Given the description of an element on the screen output the (x, y) to click on. 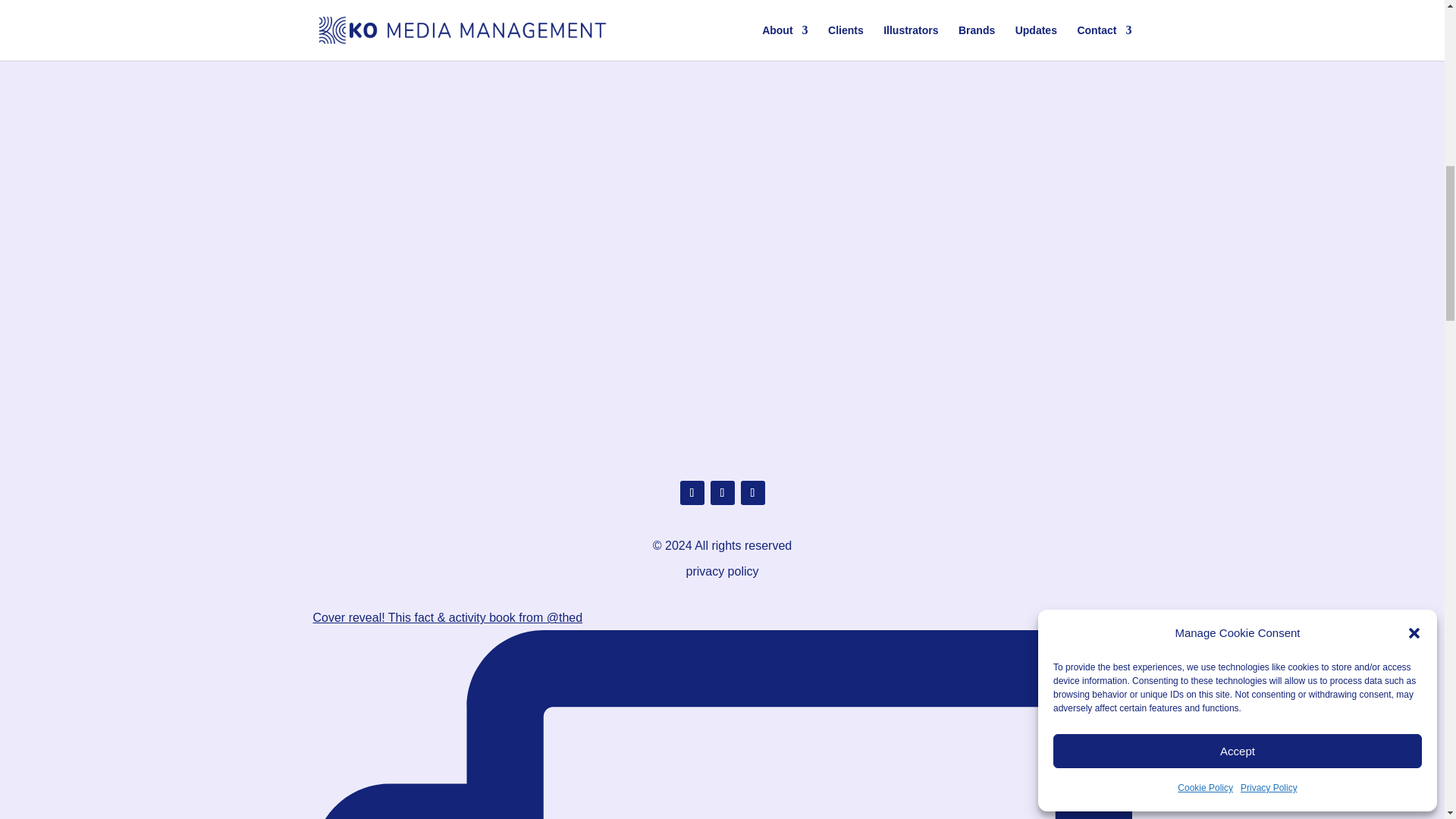
Follow on TikTok (751, 492)
Follow on X (721, 492)
Follow on Instagram (691, 492)
